Given the description of an element on the screen output the (x, y) to click on. 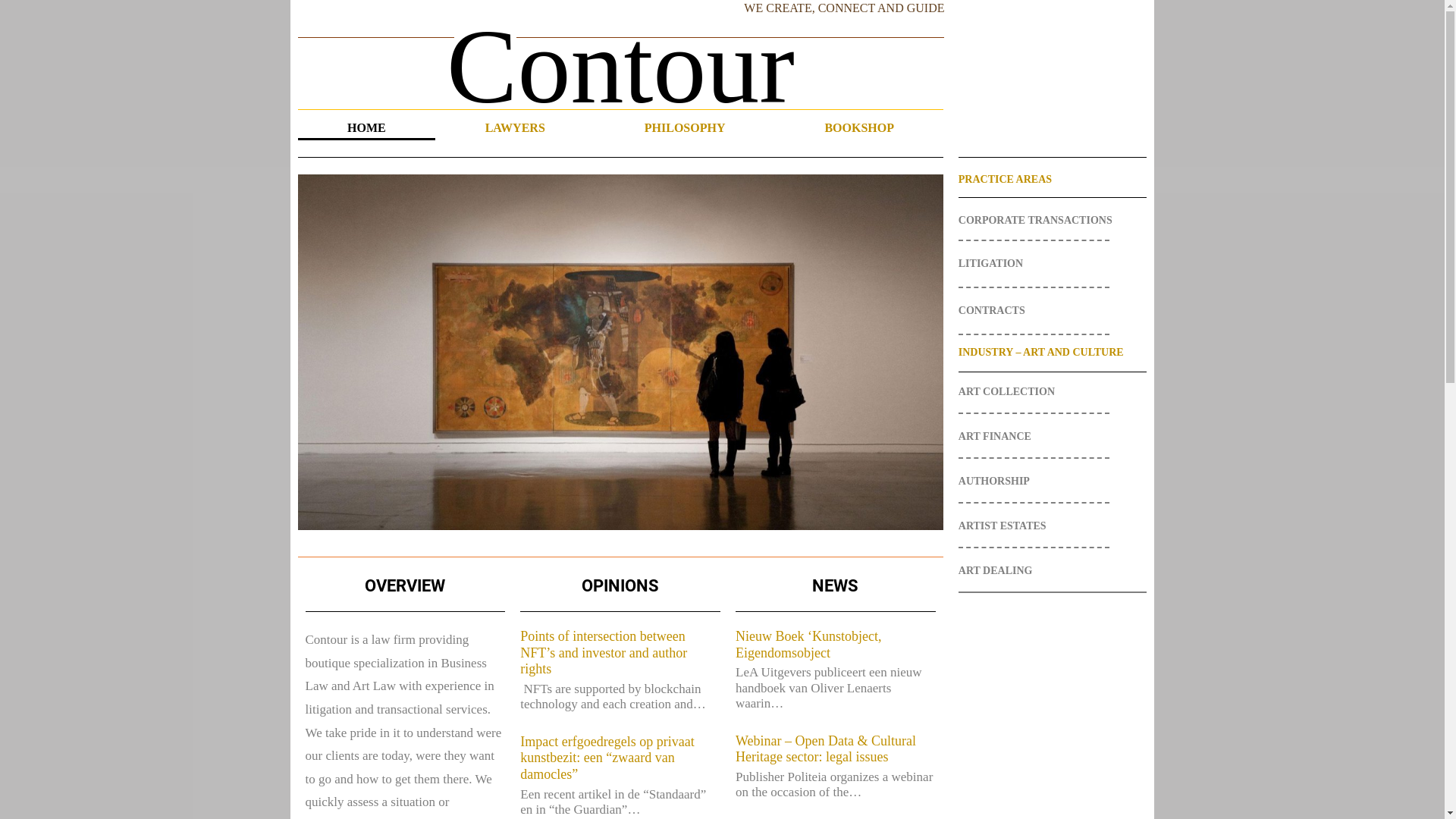
PHILOSOPHY Element type: text (684, 128)
CORPORATE TRANSACTIONS Element type: text (1052, 220)
AUTHORSHIP Element type: text (1052, 481)
ART FINANCE Element type: text (1052, 436)
ARTIST ESTATES Element type: text (1052, 526)
ART COLLECTION Element type: text (1052, 391)
HOME Element type: text (366, 128)
LAWYERS Element type: text (514, 128)
CONTRACTS Element type: text (1052, 310)
ART DEALING Element type: text (1052, 570)
LITIGATION Element type: text (1052, 263)
BOOKSHOP Element type: text (859, 128)
